Given the description of an element on the screen output the (x, y) to click on. 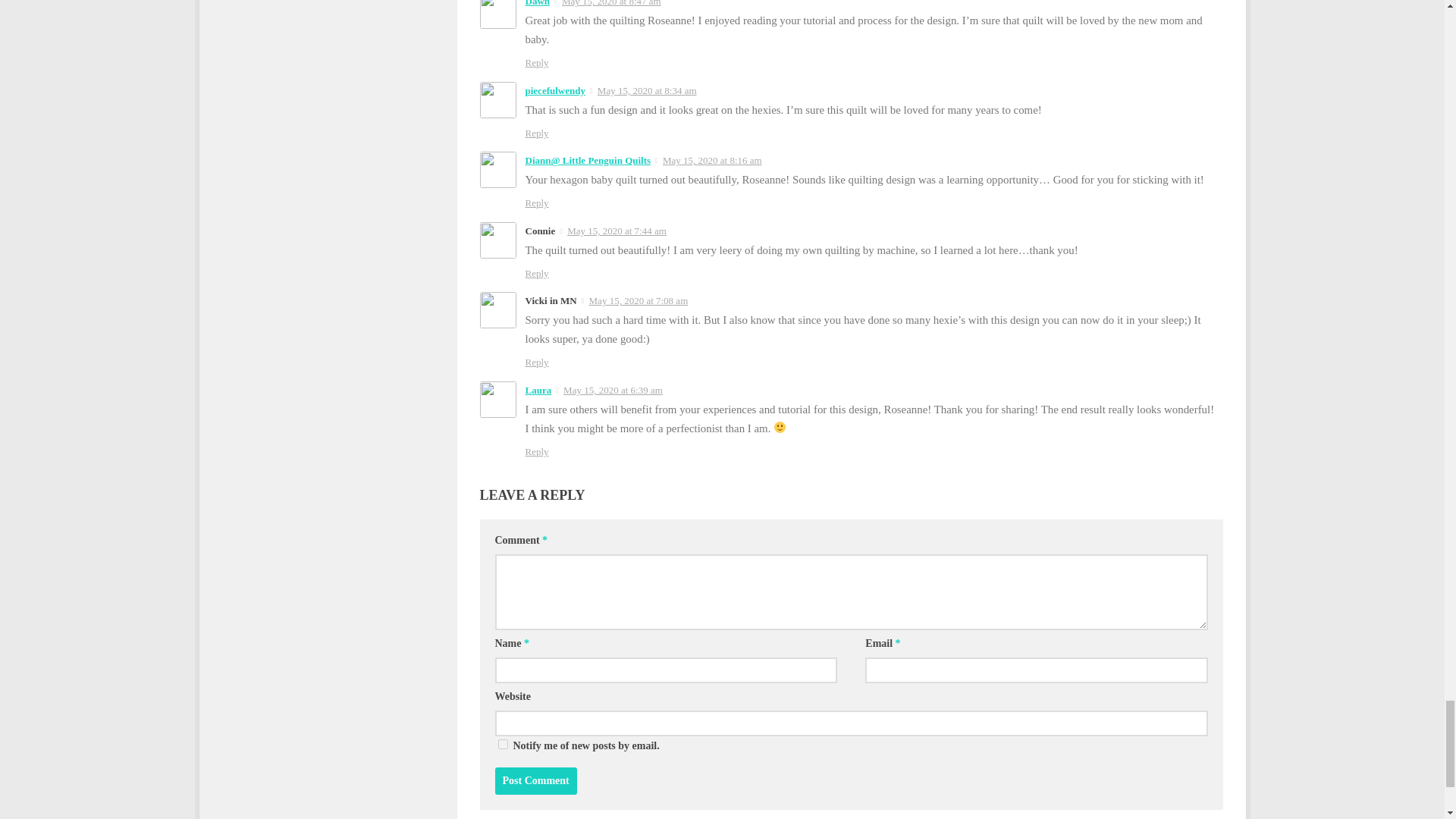
Post Comment (535, 780)
subscribe (501, 744)
